Given the description of an element on the screen output the (x, y) to click on. 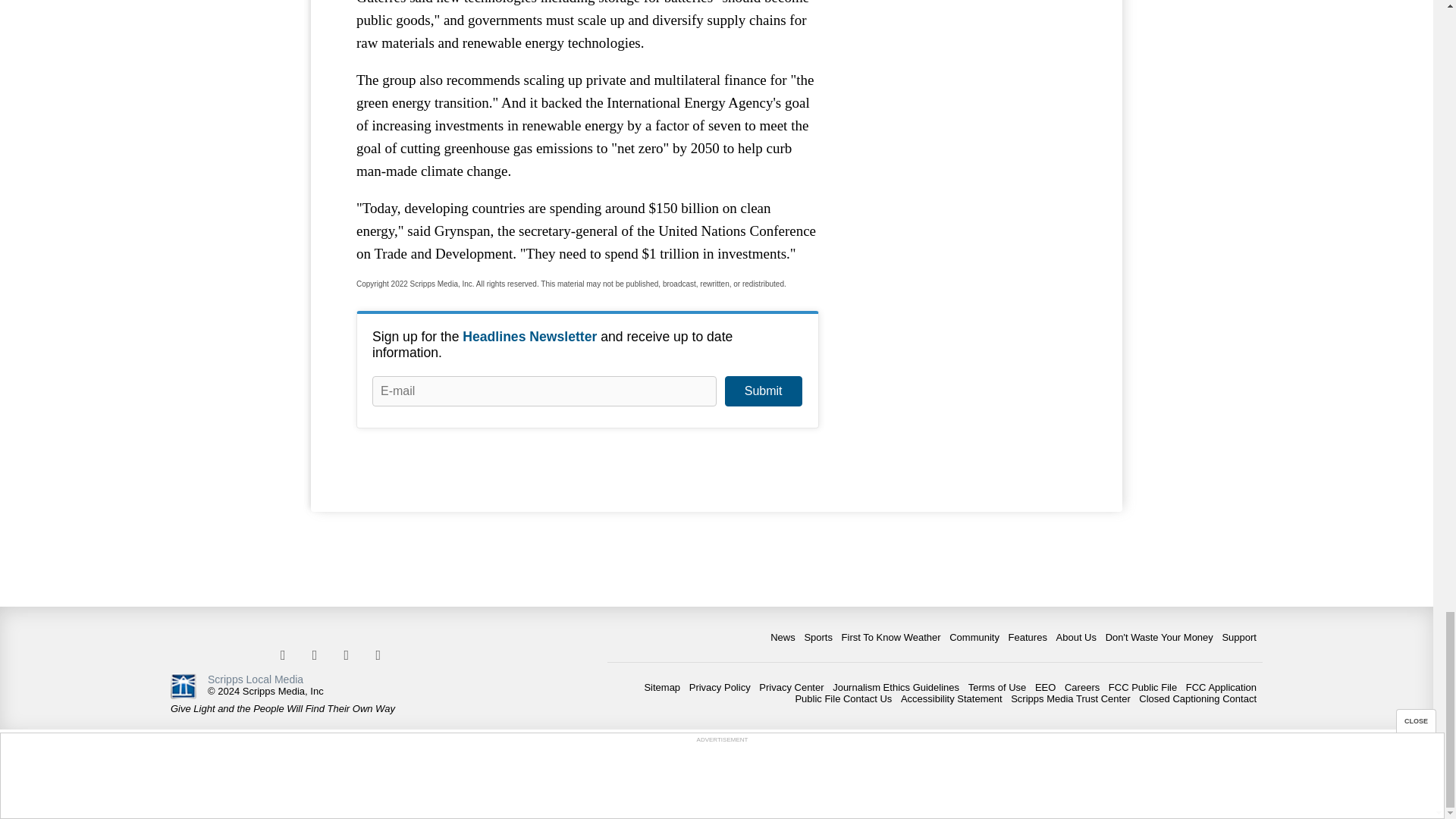
Submit (763, 390)
